Given the description of an element on the screen output the (x, y) to click on. 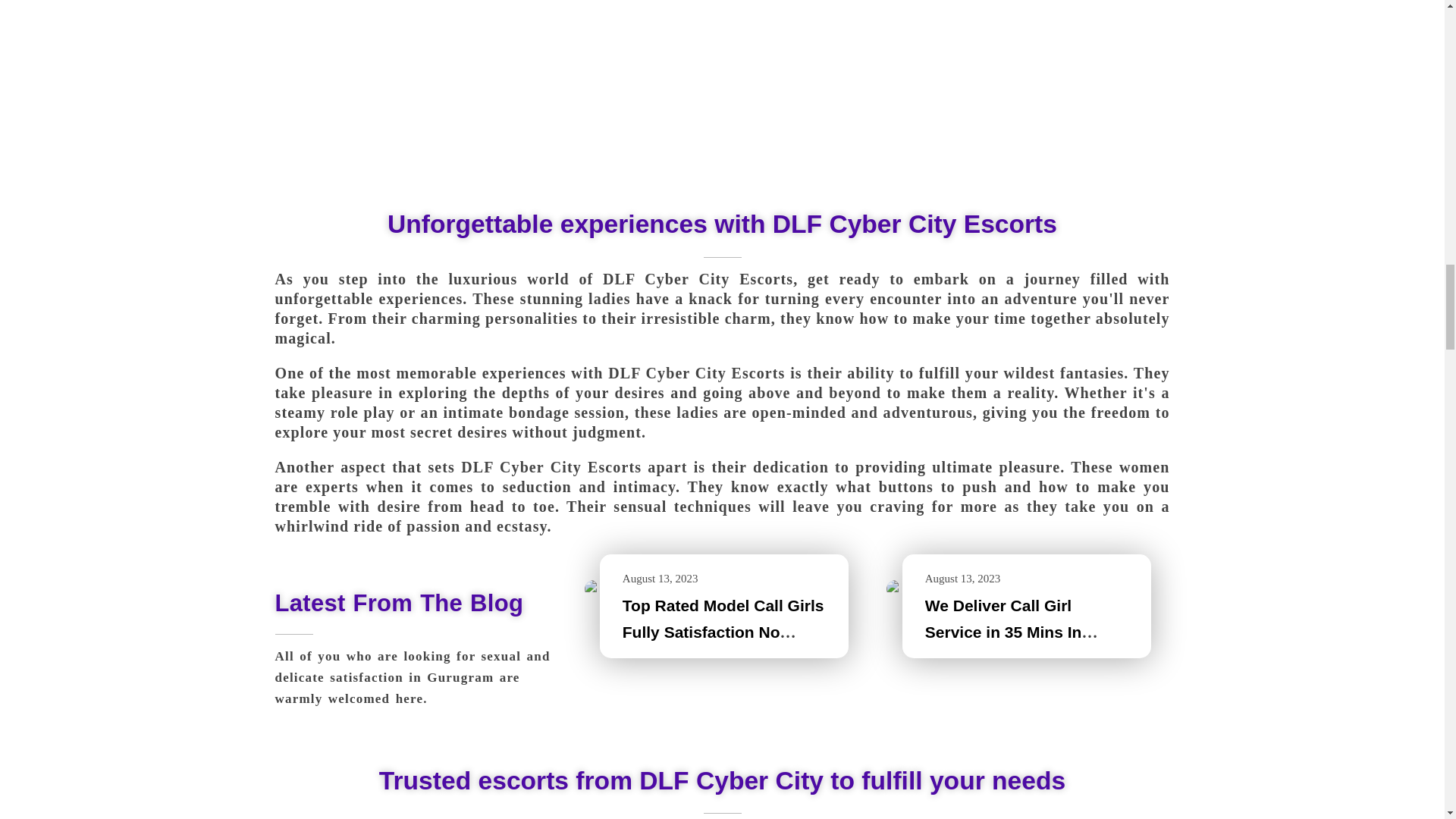
August 13, 2023 (962, 578)
August 13, 2023 (660, 578)
